Given the description of an element on the screen output the (x, y) to click on. 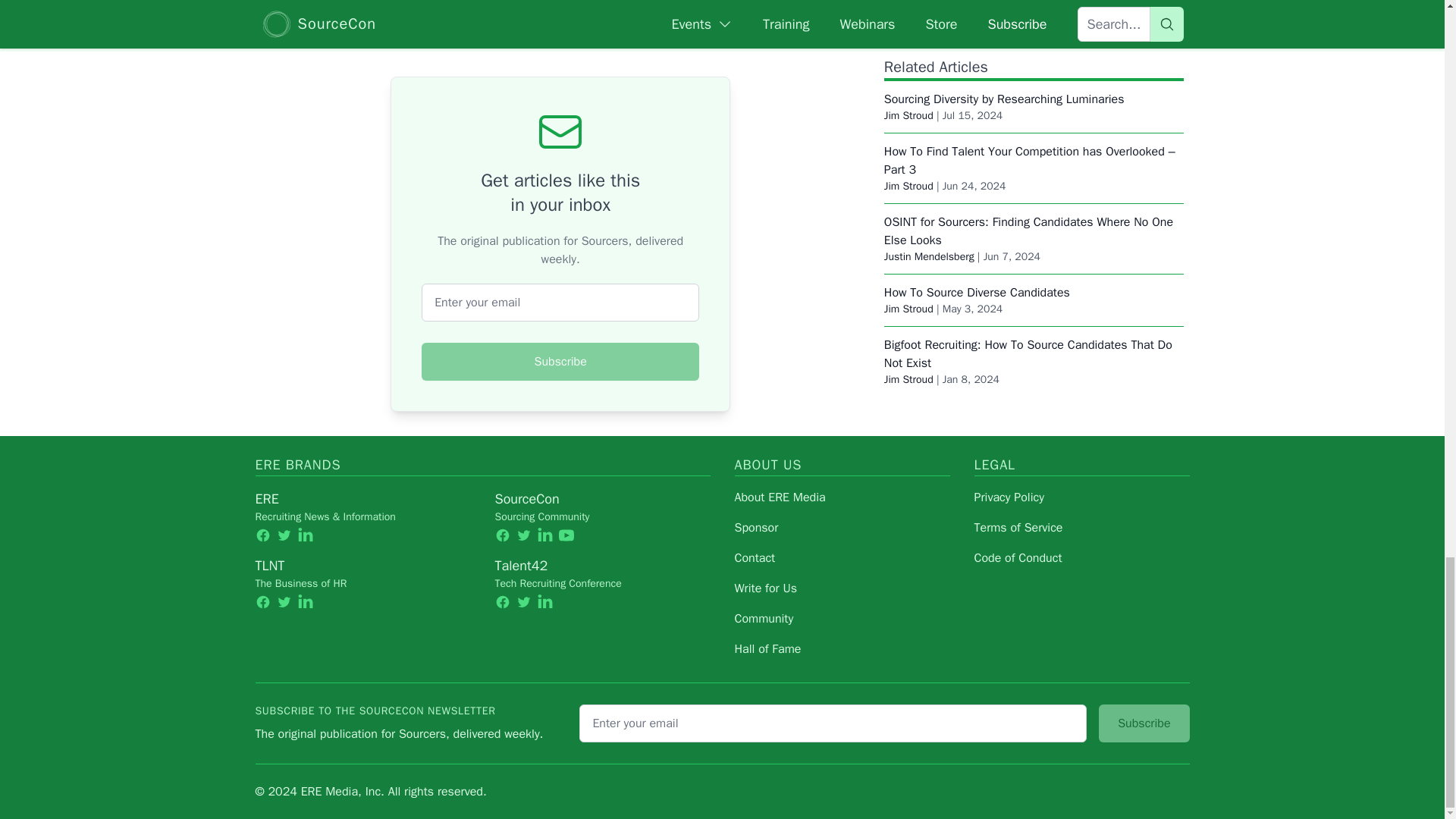
Subscribe (560, 361)
Justin Mendelsberg (928, 59)
ERE (266, 498)
facebook (261, 534)
Jim Stroud (908, 182)
How To Source Diverse Candidates (976, 95)
Jim Stroud (908, 111)
